Given the description of an element on the screen output the (x, y) to click on. 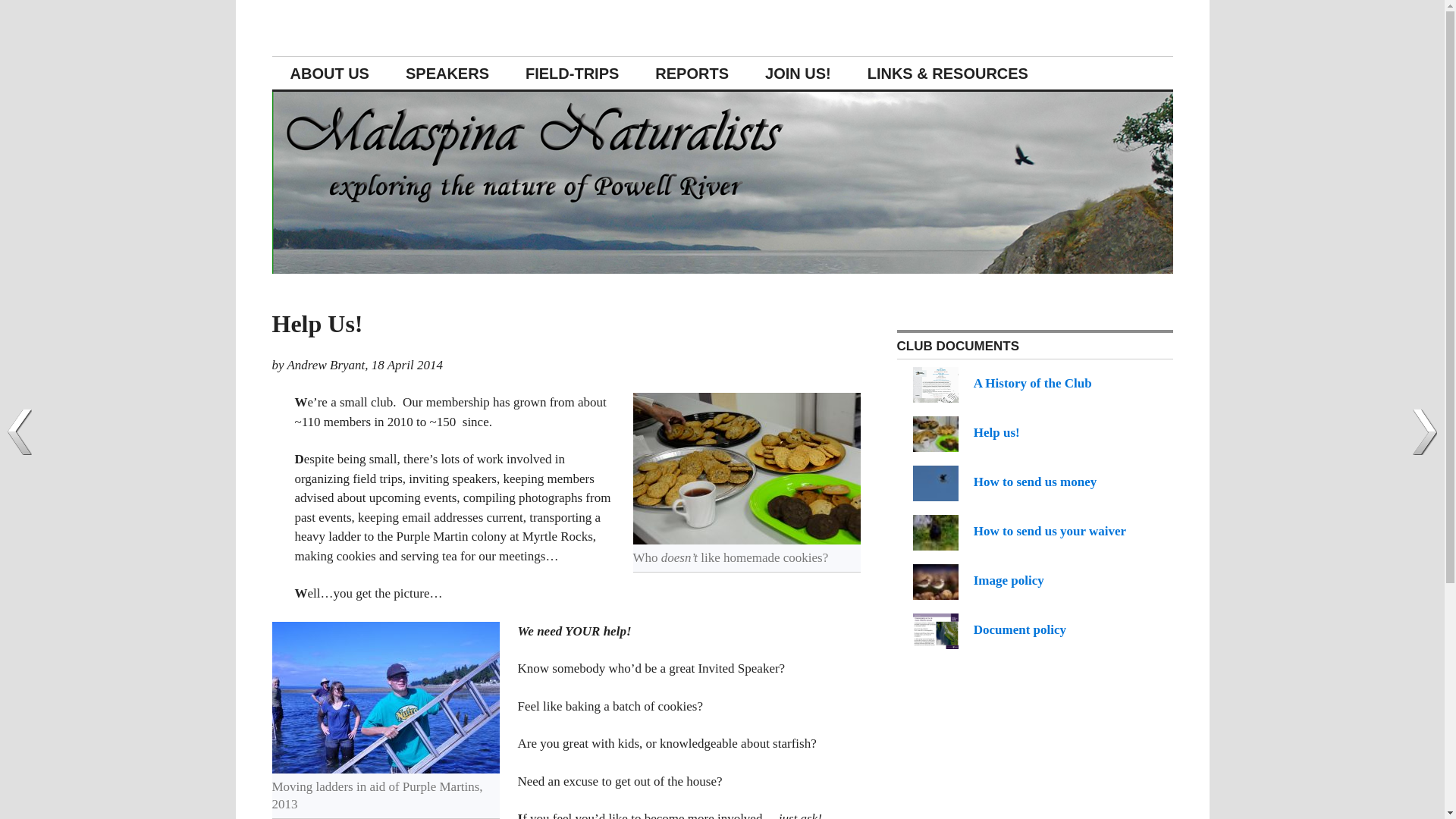
Image policy (977, 580)
FIELD-TRIPS (571, 73)
How to send us your waiver (1018, 531)
JOIN US! (797, 73)
REPORTS (691, 73)
Help us! (966, 432)
A History of the Club (1002, 382)
by YOU! (966, 432)
How to send us money (1004, 481)
ABOUT US (328, 73)
